Given the description of an element on the screen output the (x, y) to click on. 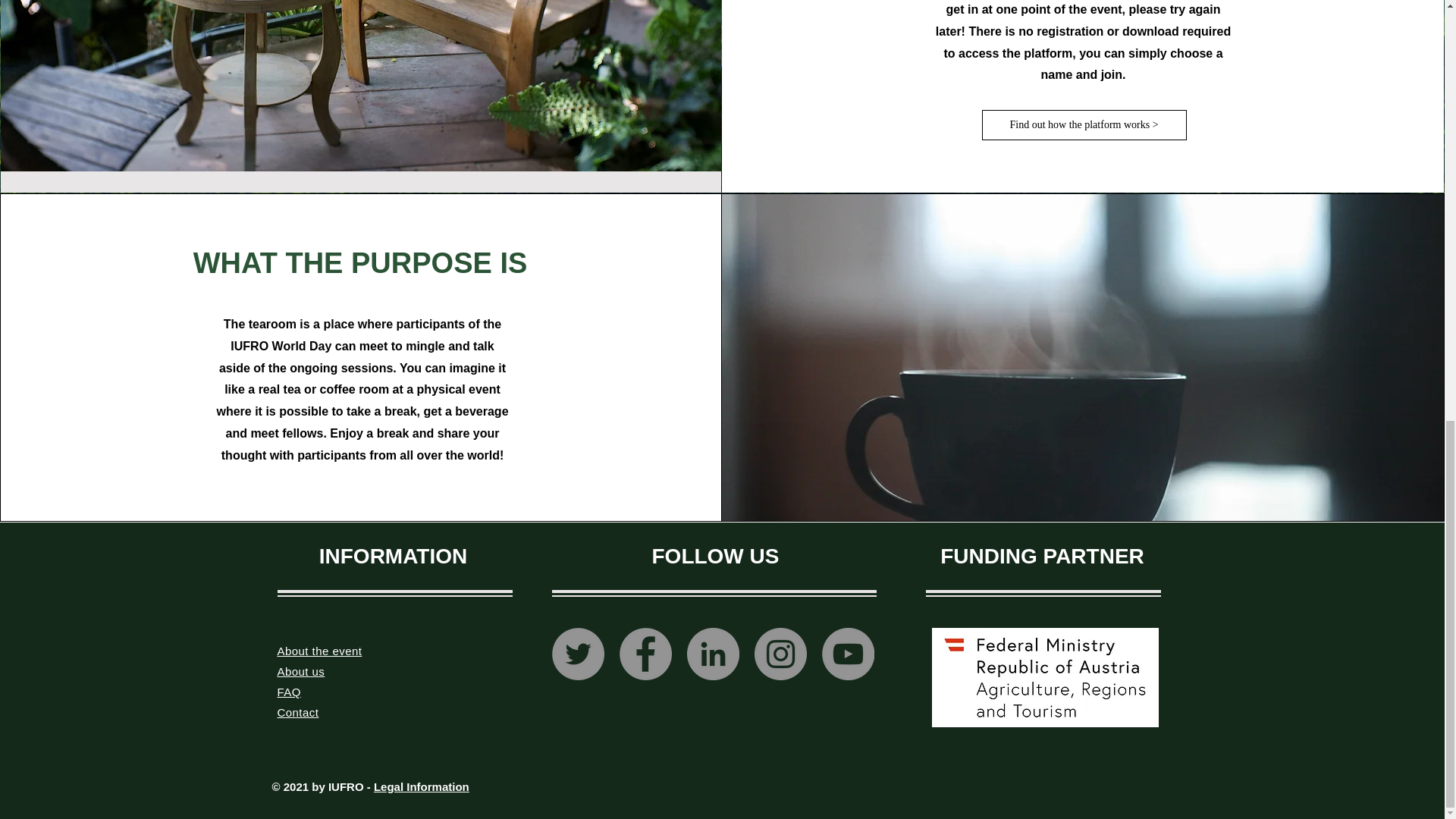
FAQ (289, 691)
Contact (298, 712)
About us (301, 671)
Legal Information (421, 786)
About the event (320, 650)
